Given the description of an element on the screen output the (x, y) to click on. 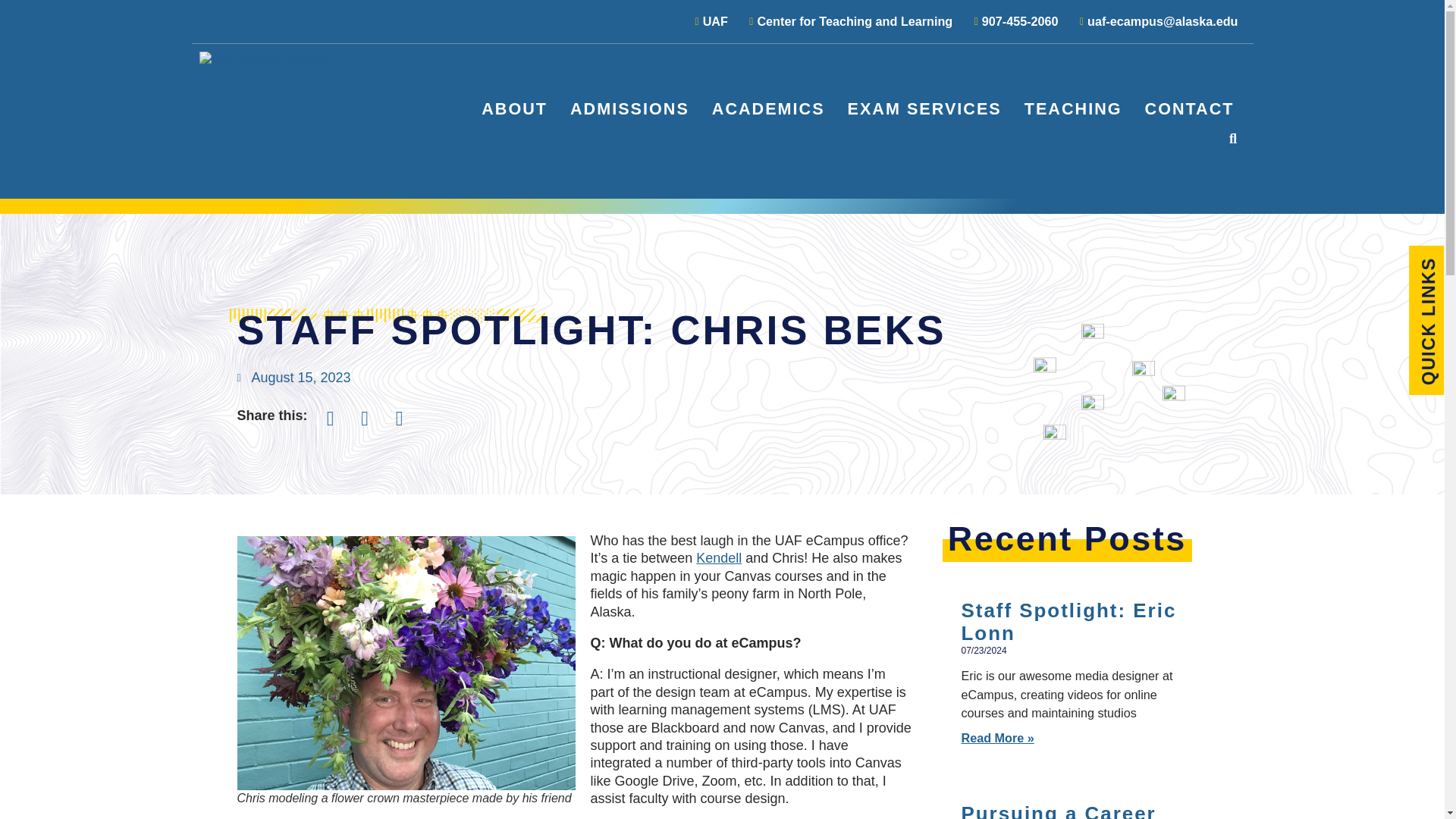
ABOUT (514, 108)
907-455-2060 (1010, 21)
EXAM SERVICES (924, 108)
Center for Teaching and Learning (845, 21)
ADMISSIONS (629, 108)
ACADEMICS (768, 108)
UAF (706, 21)
